Given the description of an element on the screen output the (x, y) to click on. 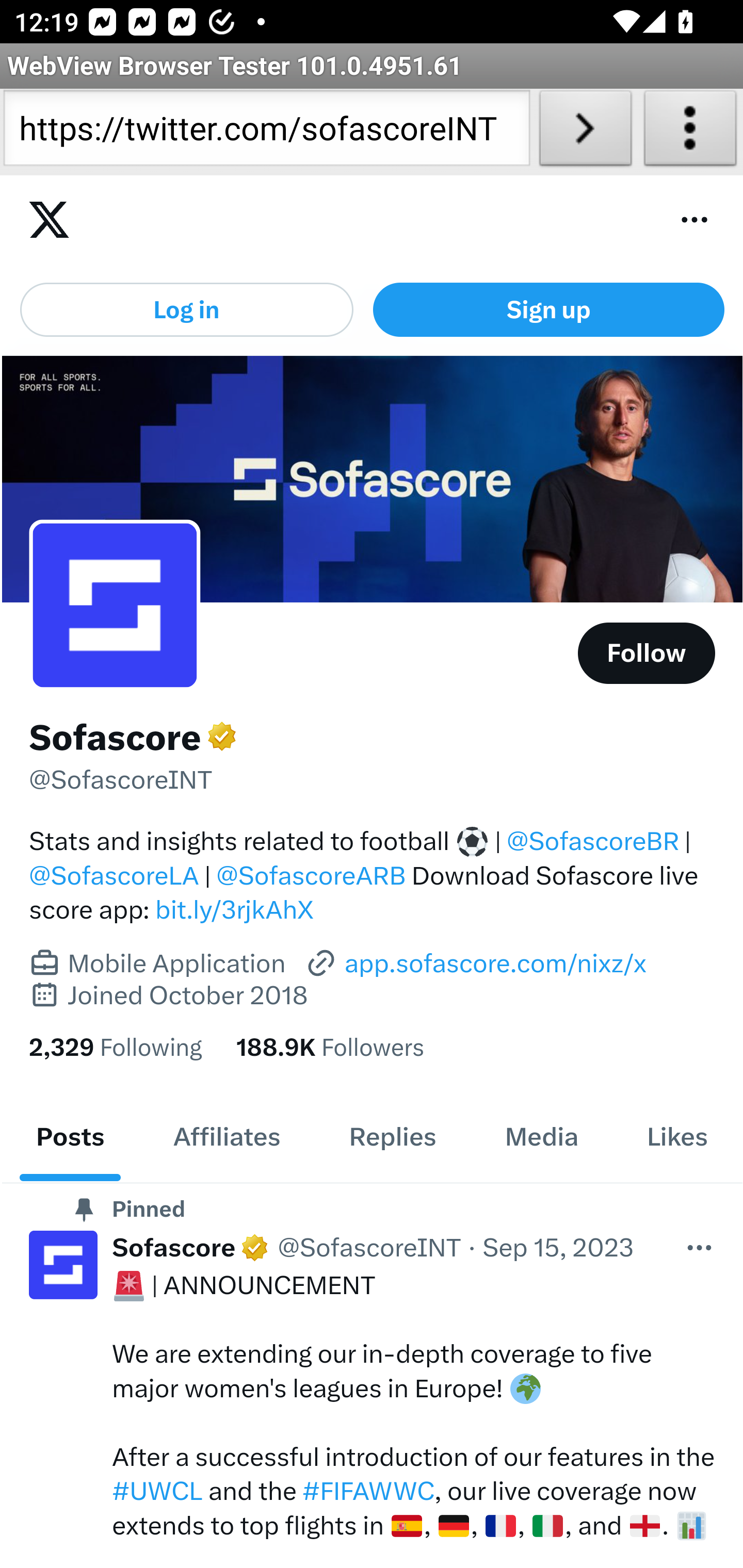
https://twitter.com/sofascoreINT (266, 132)
Load URL (585, 132)
About WebView (690, 132)
Follow @SofascoreINT (647, 652)
Provides details about verified accounts. (221, 736)
@SofascoreINT (120, 780)
@SofascoreBR (592, 840)
@SofascoreLA (113, 875)
@SofascoreARB (310, 875)
bit.ly/3rjkAhX (234, 909)
app.sofascore.com/nixz/x (475, 962)
Mobile Application (176, 964)
2,329 Following 2,329   Following (115, 1046)
188.9K Followers 188.9K   Followers (330, 1046)
Previous Posts Affiliates Replies Media Likes Next (371, 1135)
Posts (70, 1135)
Affiliates (226, 1135)
Replies (392, 1135)
Media (541, 1135)
Likes (677, 1135)
@SofascoreINT (369, 1247)
Sep 15, 2023 (559, 1247)
More (699, 1247)
#UWCL (157, 1491)
#FIFAWWC (367, 1491)
